Given the description of an element on the screen output the (x, y) to click on. 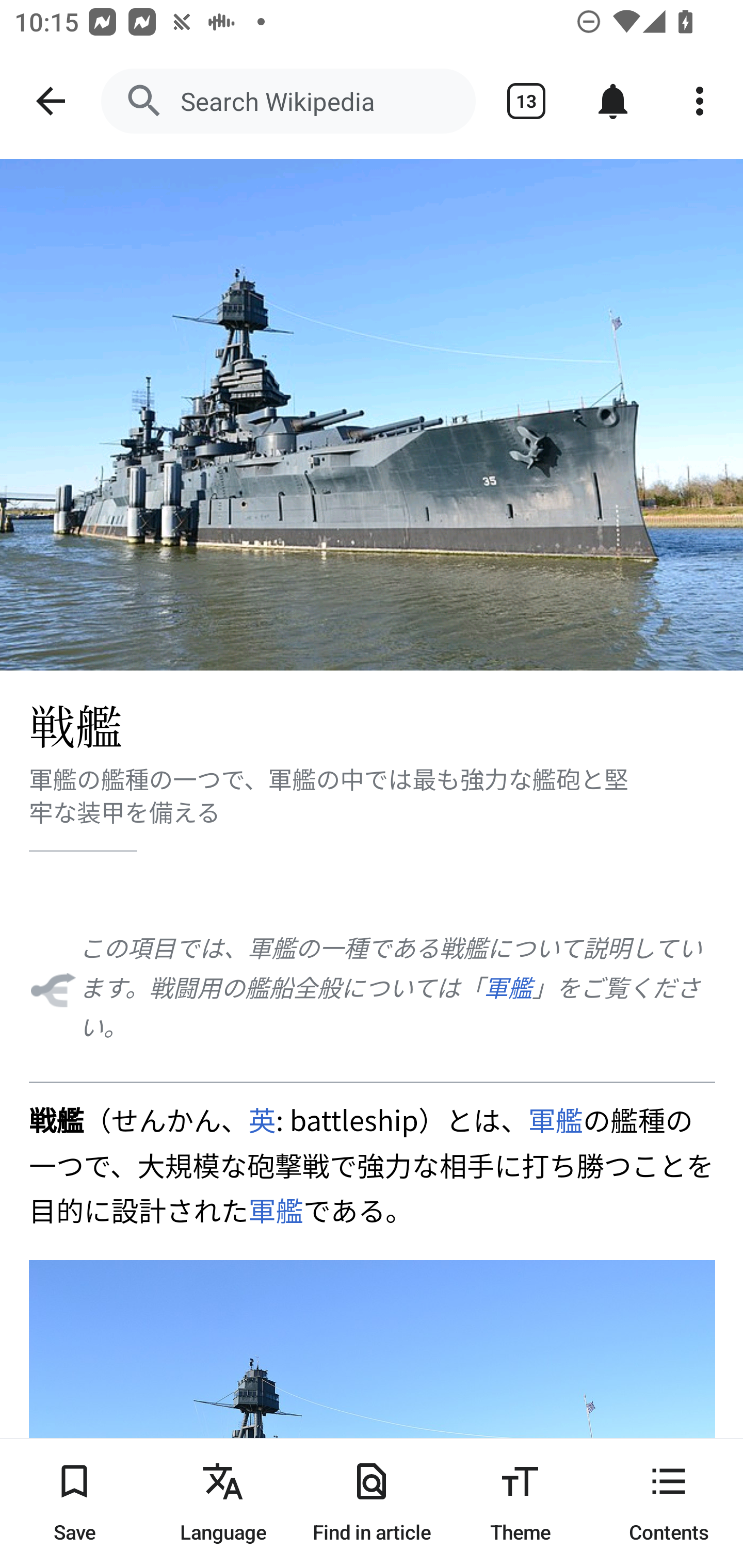
Show tabs 13 (525, 100)
Notifications (612, 100)
Navigate up (50, 101)
More options (699, 101)
Search Wikipedia (288, 100)
Image: 戦艦 (371, 414)
曖昧さ回避 (51, 986)
軍艦 (507, 986)
英 (261, 1119)
軍艦 (556, 1119)
軍艦 (275, 1210)
Save (74, 1502)
Language (222, 1502)
Find in article (371, 1502)
Theme (519, 1502)
Contents (668, 1502)
